Given the description of an element on the screen output the (x, y) to click on. 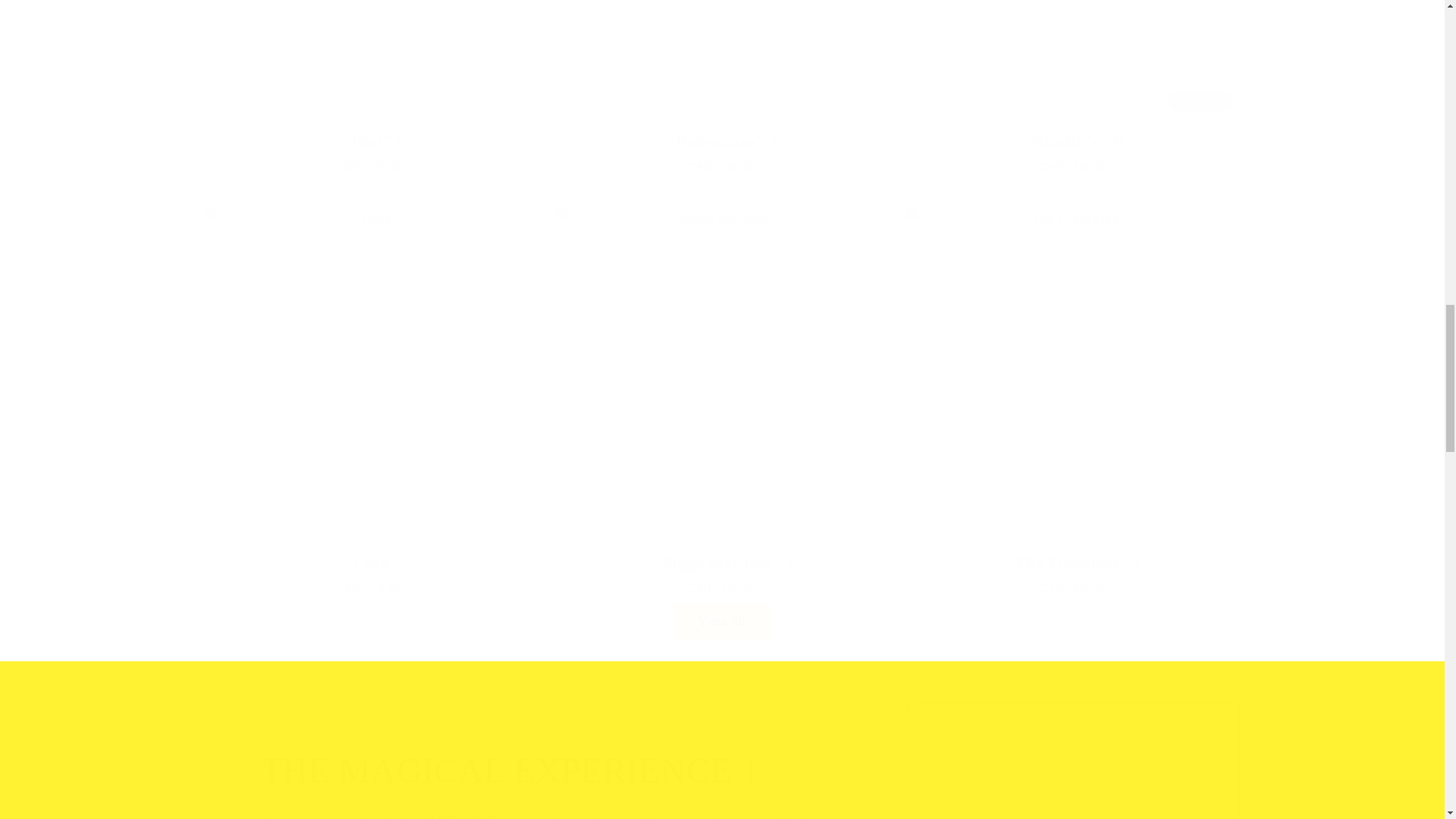
"Jimi" I (1073, 94)
